Given the description of an element on the screen output the (x, y) to click on. 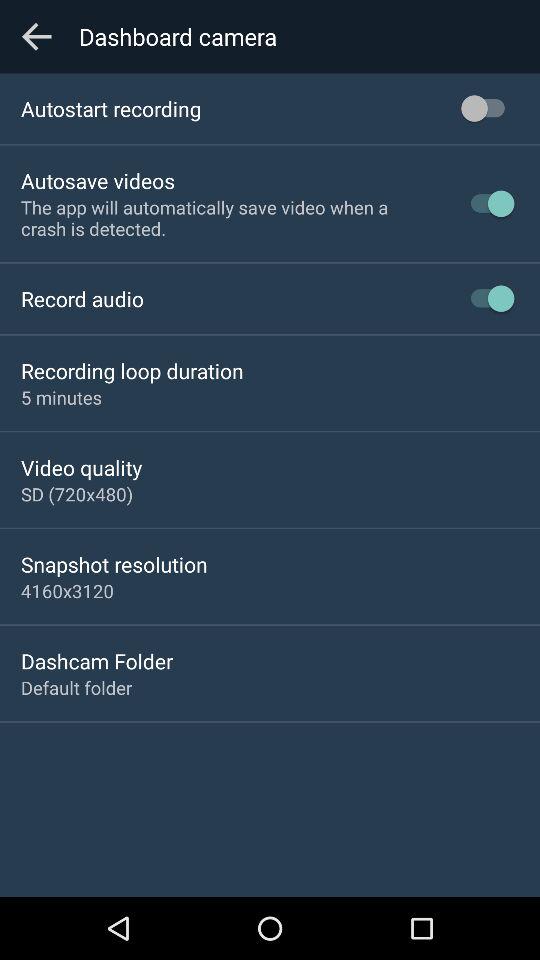
press icon above the default folder (97, 660)
